Given the description of an element on the screen output the (x, y) to click on. 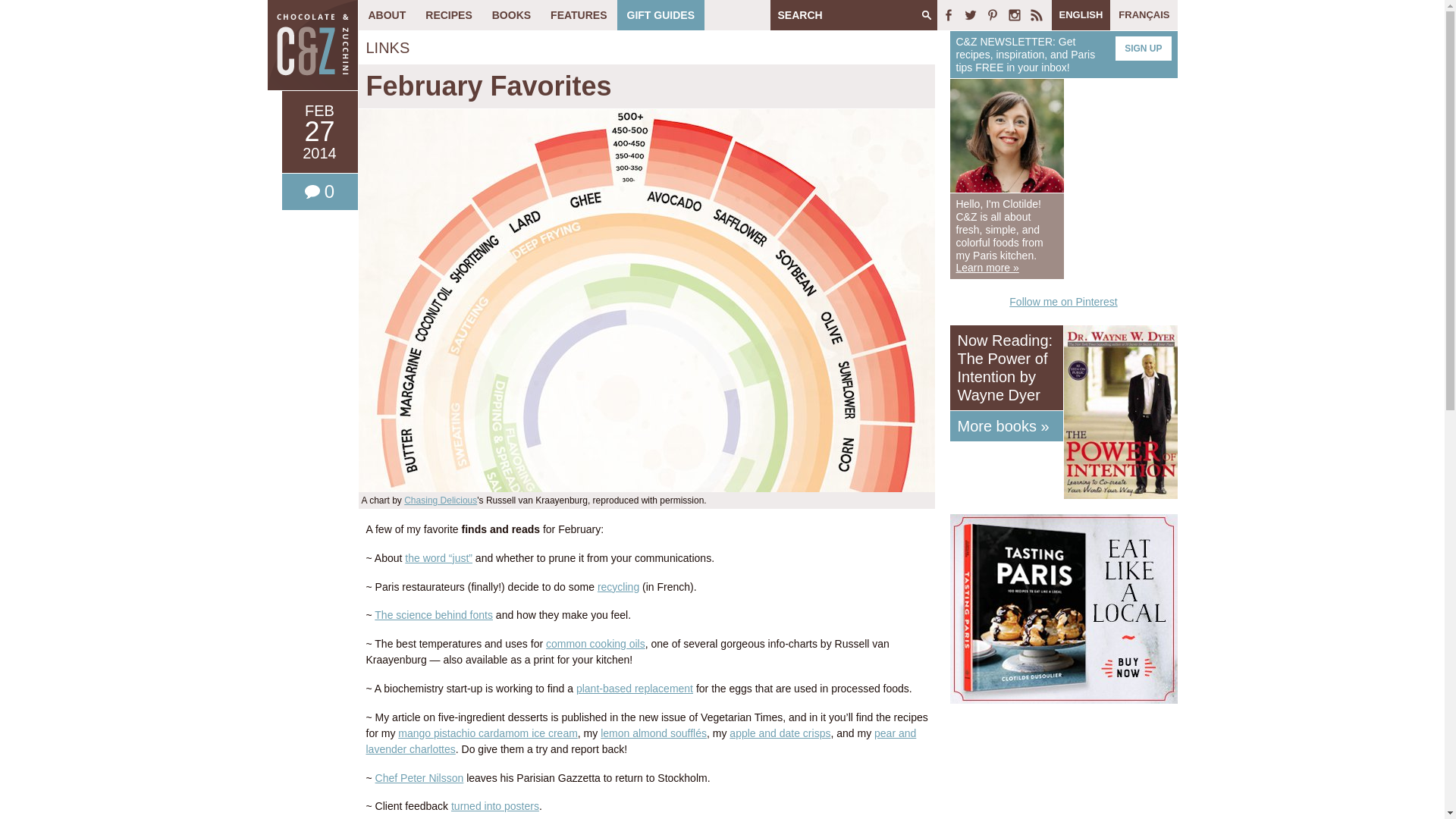
TWITTER (970, 14)
ENGLISH (1080, 15)
Chasing Delicious (440, 500)
Twitter (970, 14)
INSTAGRAM (1014, 14)
BOOKS (510, 15)
0 (320, 191)
RECIPES (447, 15)
FEATURES (577, 15)
Instagram (1014, 14)
